Given the description of an element on the screen output the (x, y) to click on. 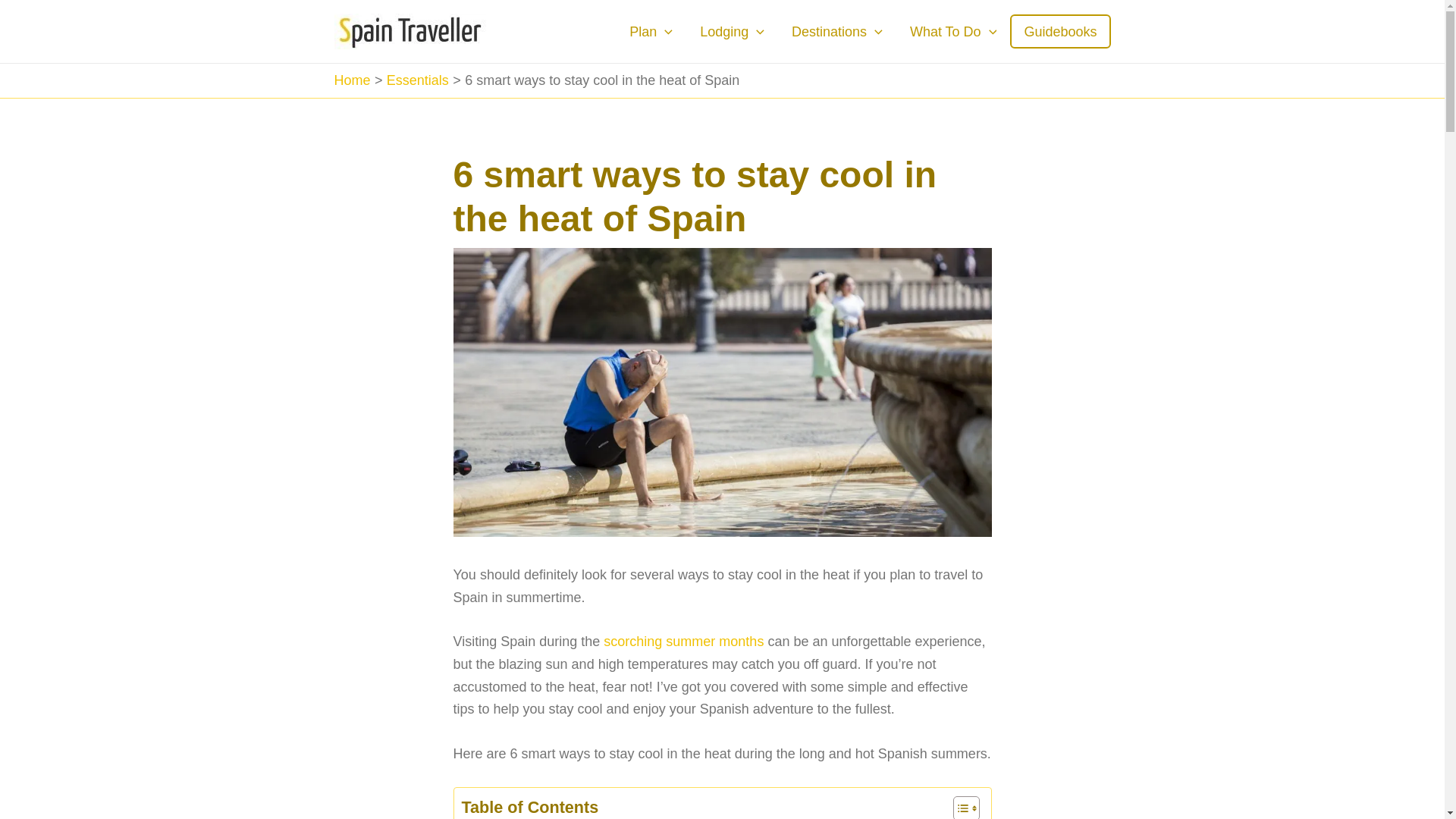
Lodging (731, 31)
Guidebooks (1059, 31)
Plan (650, 31)
What To Do (953, 31)
Destinations (836, 31)
